Given the description of an element on the screen output the (x, y) to click on. 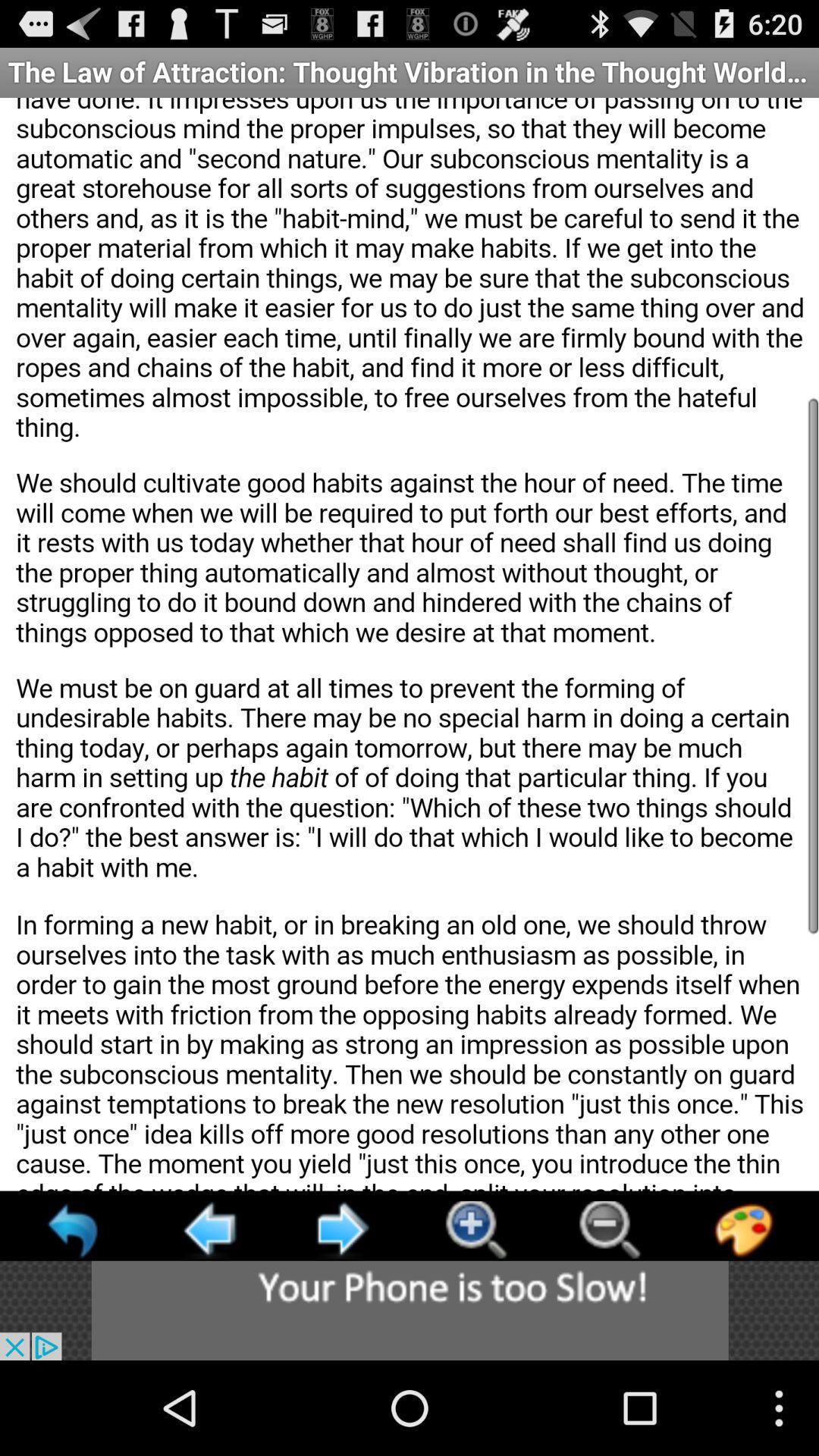
go to back (341, 1229)
